Given the description of an element on the screen output the (x, y) to click on. 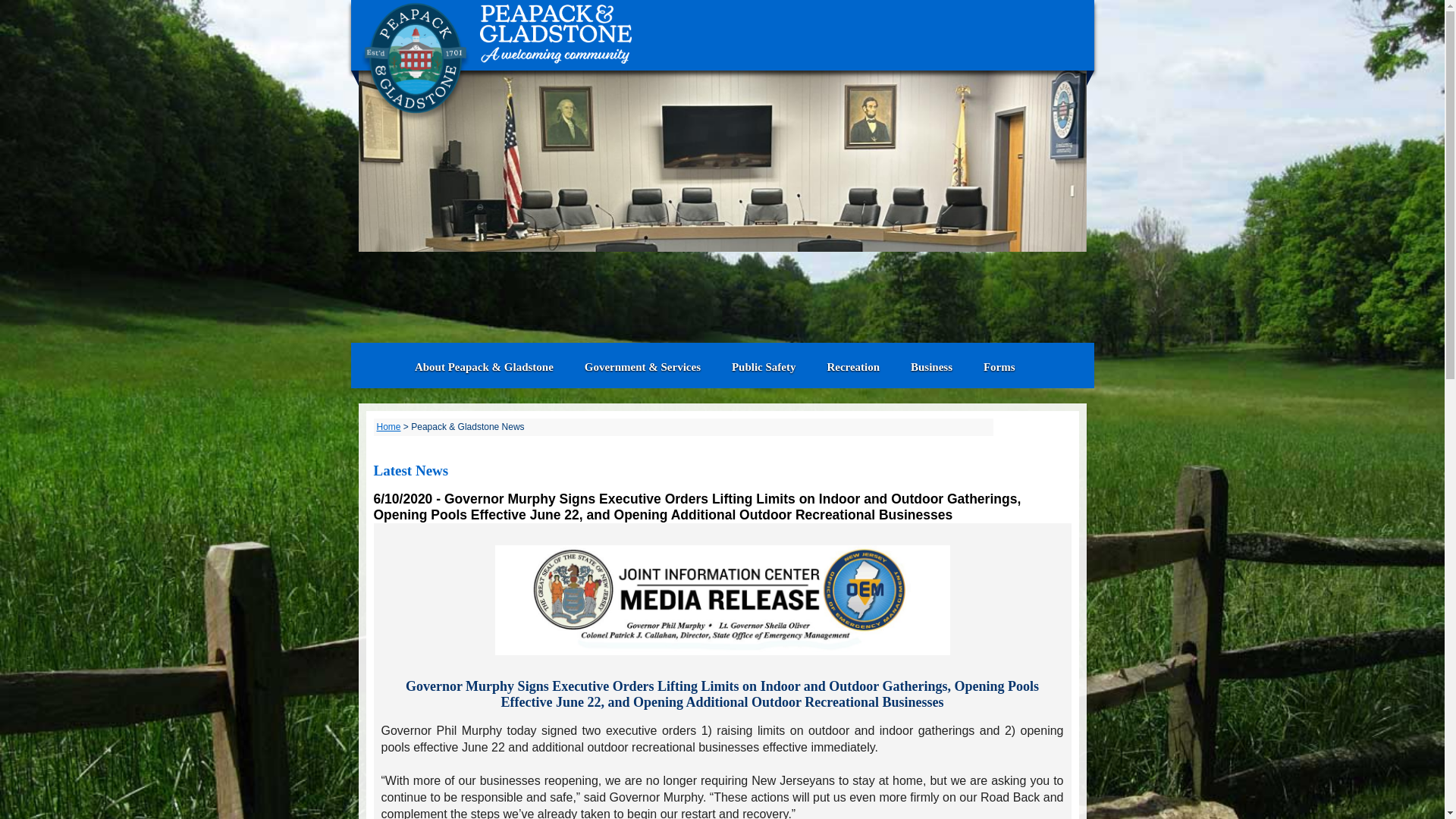
Home (387, 426)
About Peapack and Gladstone (483, 367)
Public Safety (763, 367)
Public Safety (763, 367)
Peapack and Gladstone Homepage (383, 367)
Government and Services (642, 367)
Recreation (852, 367)
Business (931, 367)
Forms (999, 367)
Business (931, 367)
